Given the description of an element on the screen output the (x, y) to click on. 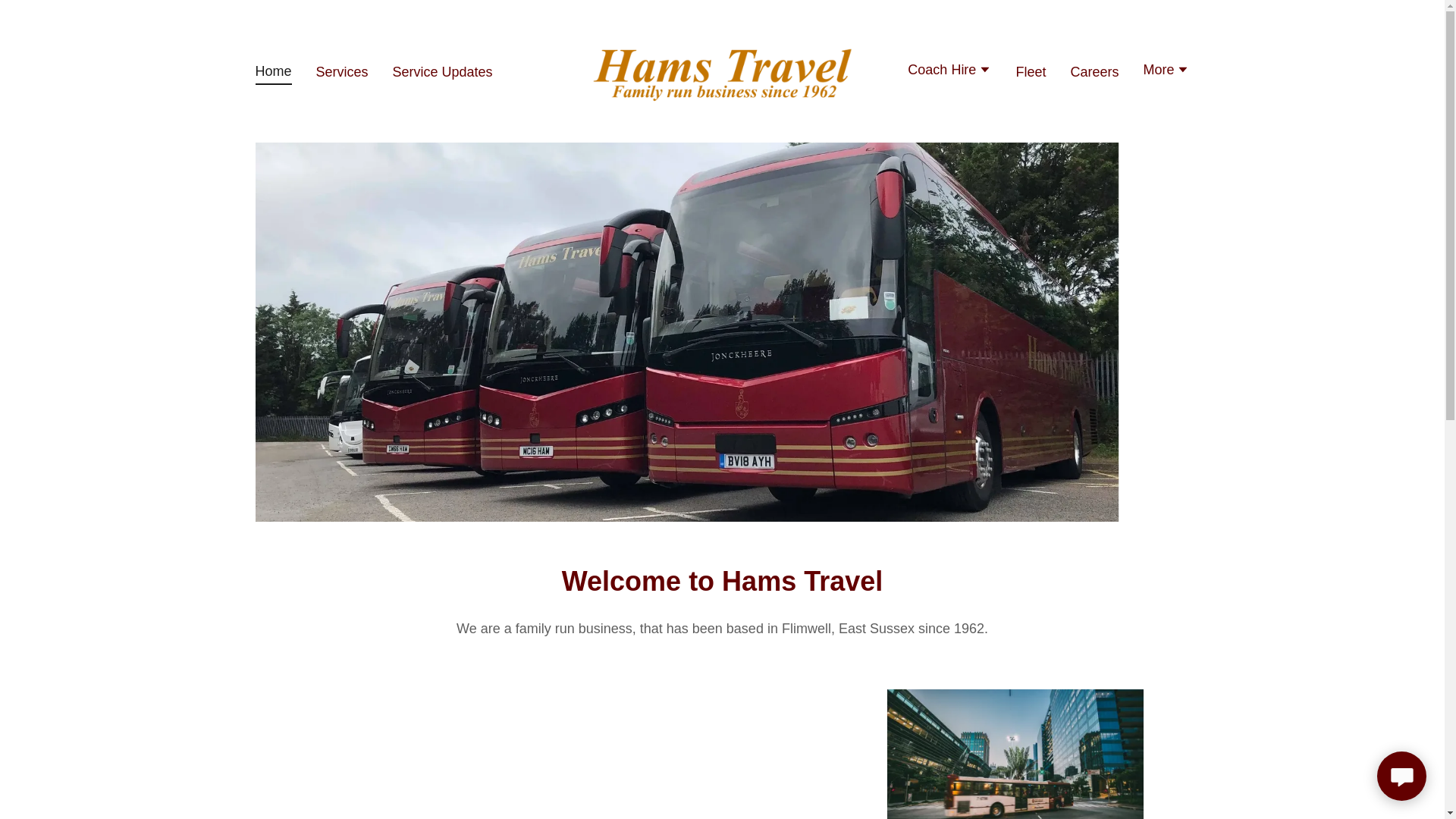
Careers (1093, 71)
Fleet (1029, 71)
Service Updates (442, 71)
Services (341, 71)
Home (272, 73)
Hams Travel (721, 70)
More (1165, 70)
Coach Hire (949, 70)
